Given the description of an element on the screen output the (x, y) to click on. 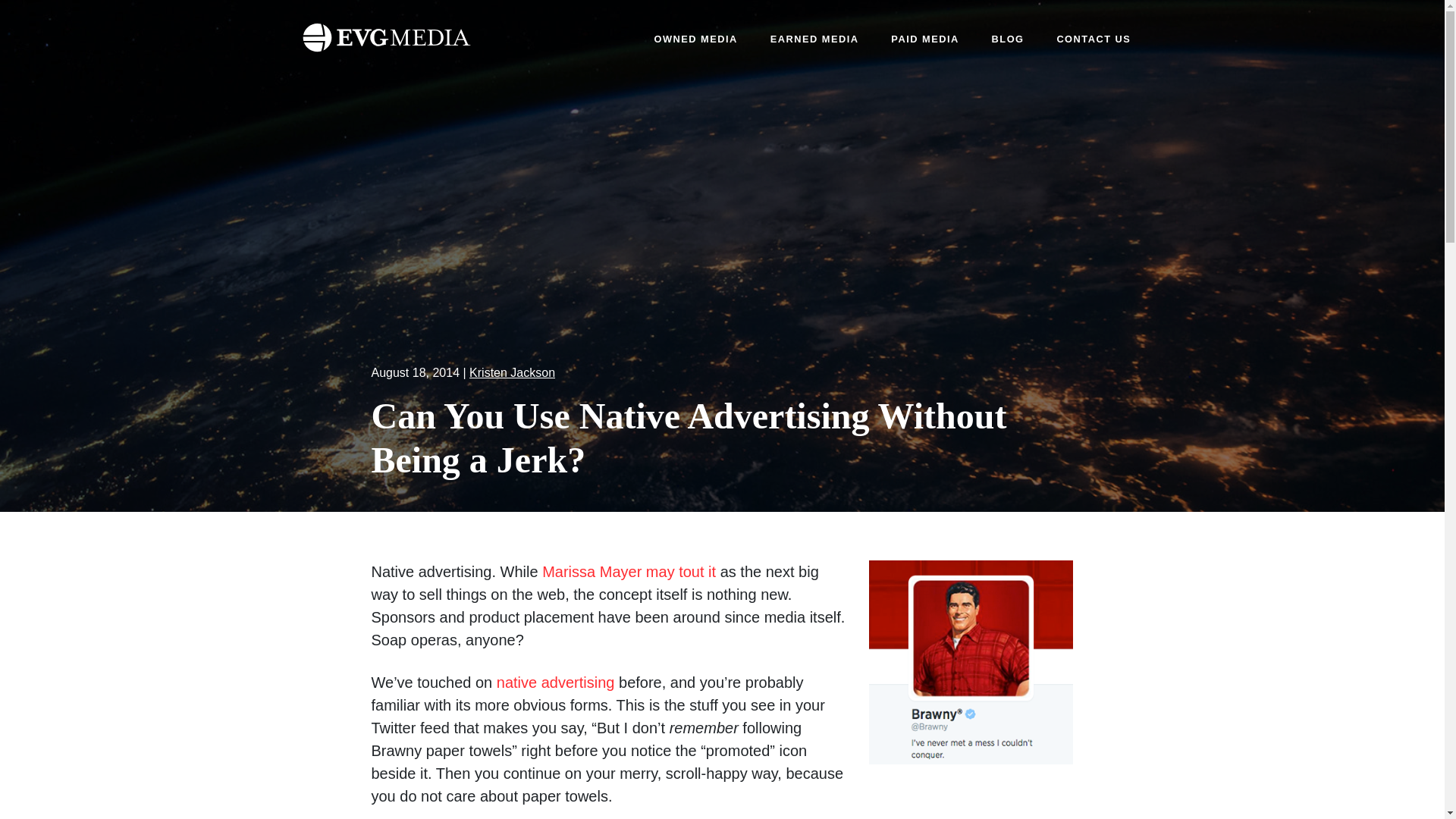
Marissa Mayer may tout it (628, 571)
CONTACT US (1094, 39)
OWNED MEDIA (694, 39)
PAID MEDIA (924, 39)
Kristen Jackson (511, 372)
EARNED MEDIA (814, 39)
BLOG (1008, 39)
native advertising (555, 682)
